Given the description of an element on the screen output the (x, y) to click on. 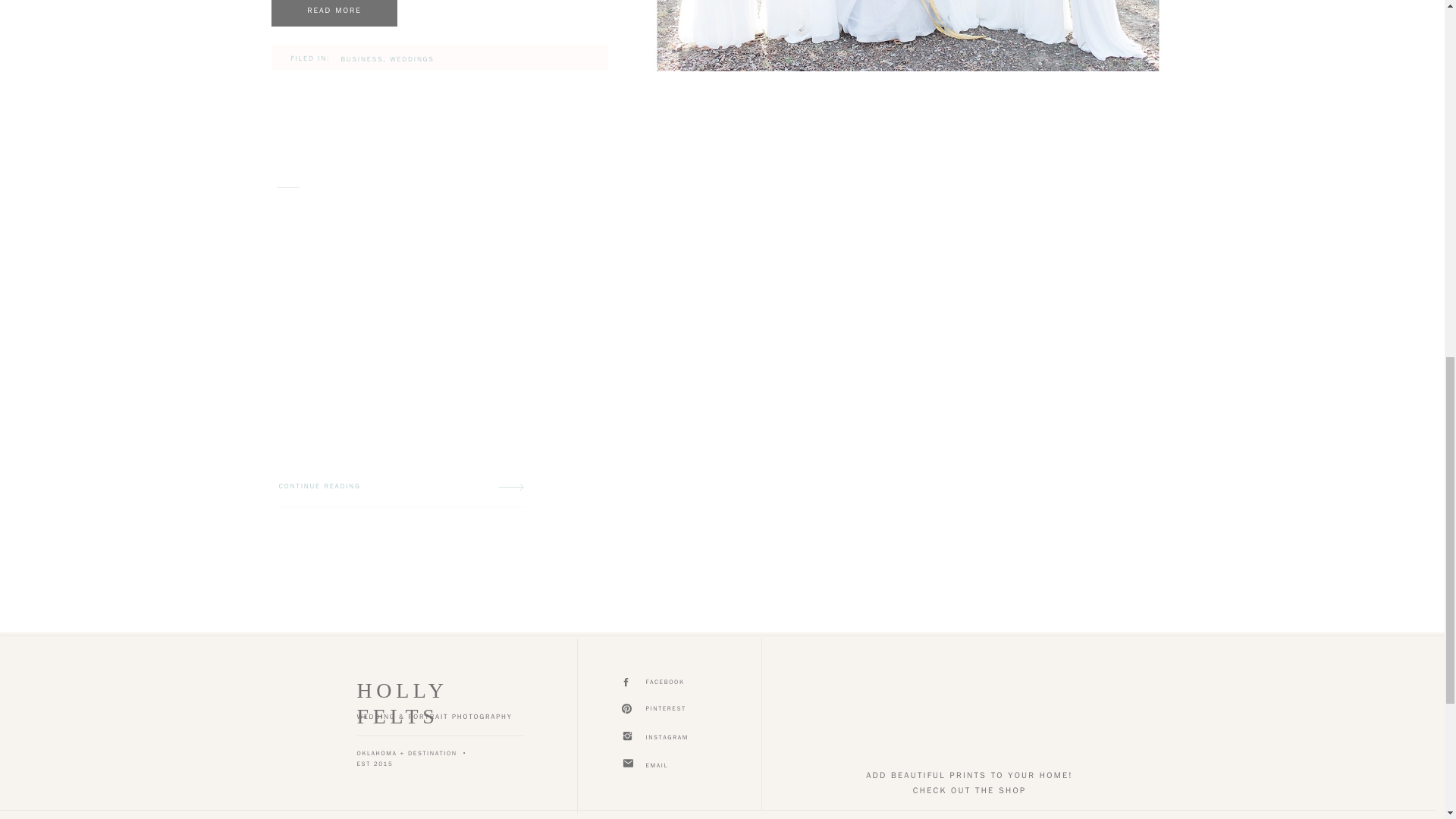
READ MORE (333, 10)
BUSINESS (362, 58)
5 Things the DIY Bride Should NOT Do Herself (333, 10)
PINTEREST (681, 709)
WEDDINGS (411, 58)
5 Things the DIY Bride Should NOT Do Herself (333, 13)
FACEBOOK (681, 683)
INSTAGRAM (681, 738)
CONTINUE READING (342, 486)
